Given the description of an element on the screen output the (x, y) to click on. 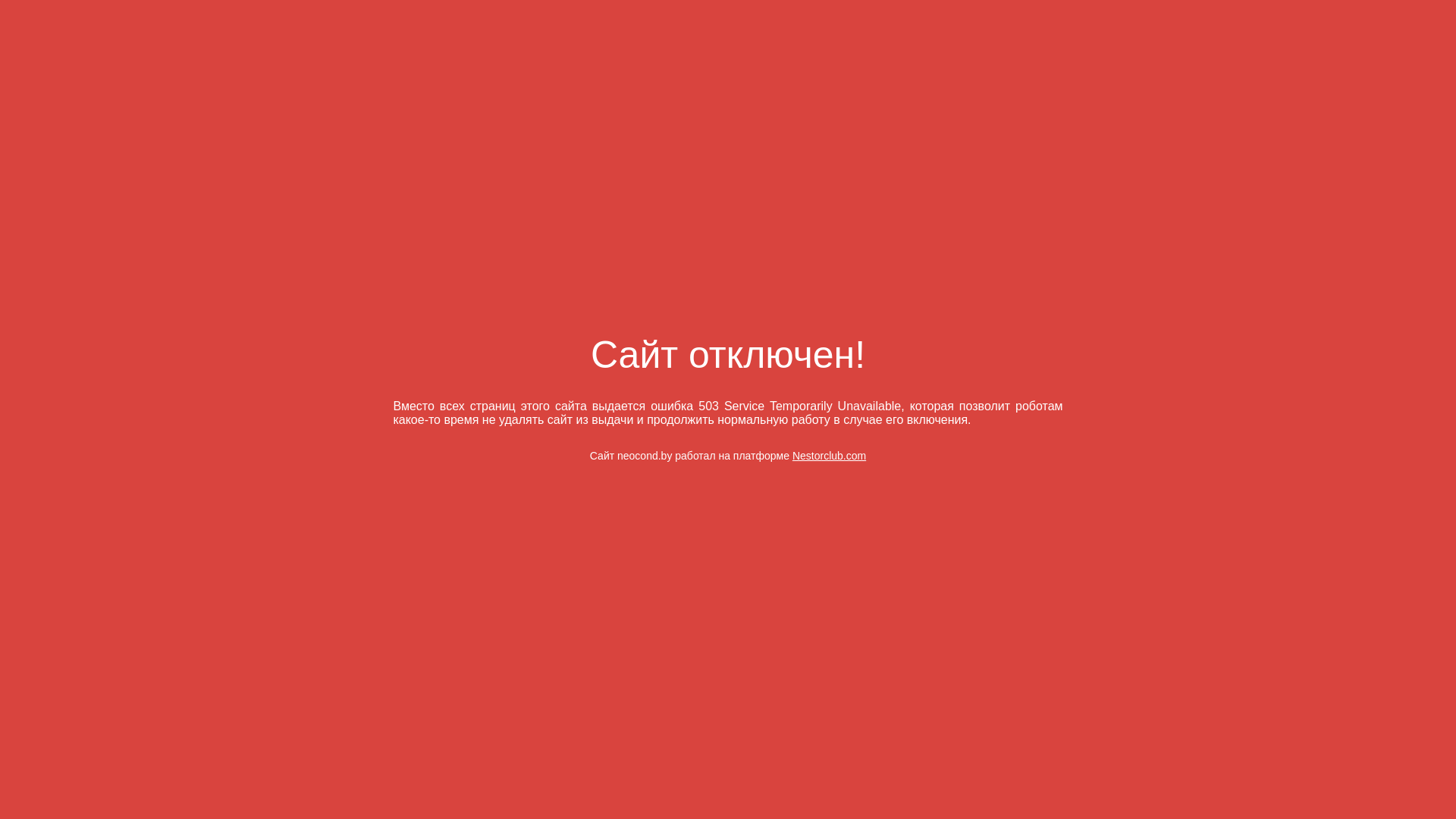
Nestorclub.com Element type: text (829, 455)
